Given the description of an element on the screen output the (x, y) to click on. 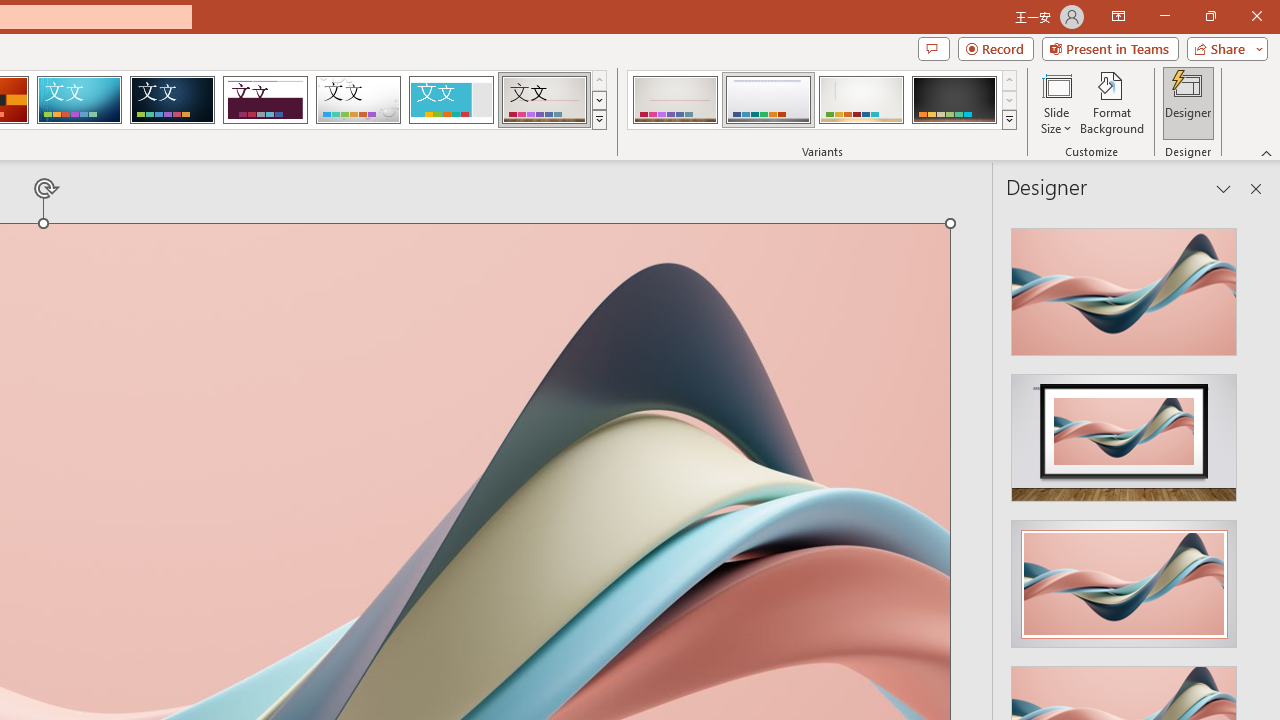
Dividend (265, 100)
Damask (171, 100)
Frame (450, 100)
Droplet (358, 100)
Gallery Variant 2 (768, 100)
